Given the description of an element on the screen output the (x, y) to click on. 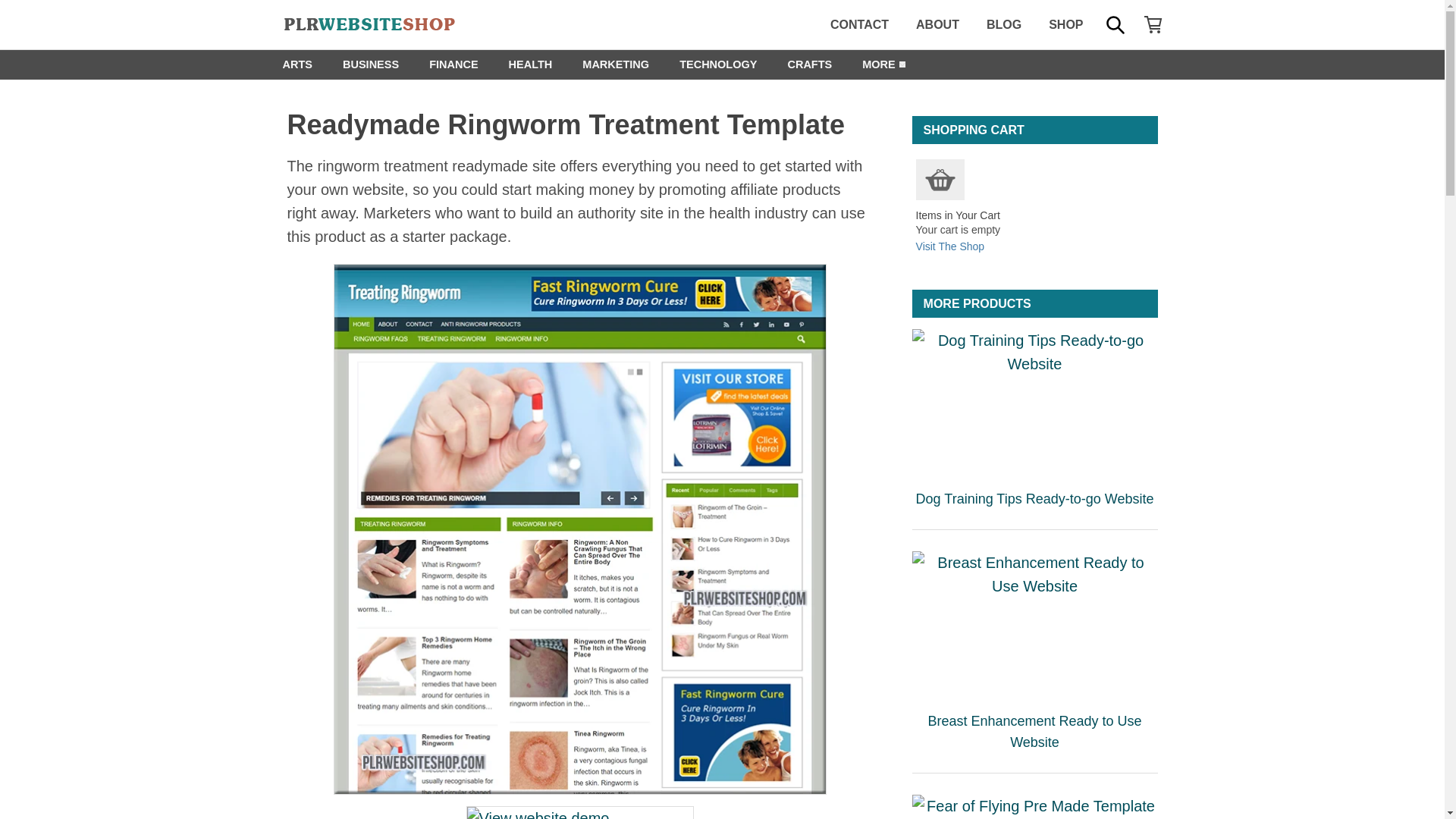
ARTS (296, 64)
Blog Demo (579, 812)
Breast Enhancement Ready to Use Website (1034, 624)
BUSINESS (370, 64)
Shopping Cart (939, 178)
SHOP (1065, 23)
Fear of Flying Pre Made Template with PLR (1034, 806)
BLOG (1003, 23)
FINANCE (453, 64)
